Given the description of an element on the screen output the (x, y) to click on. 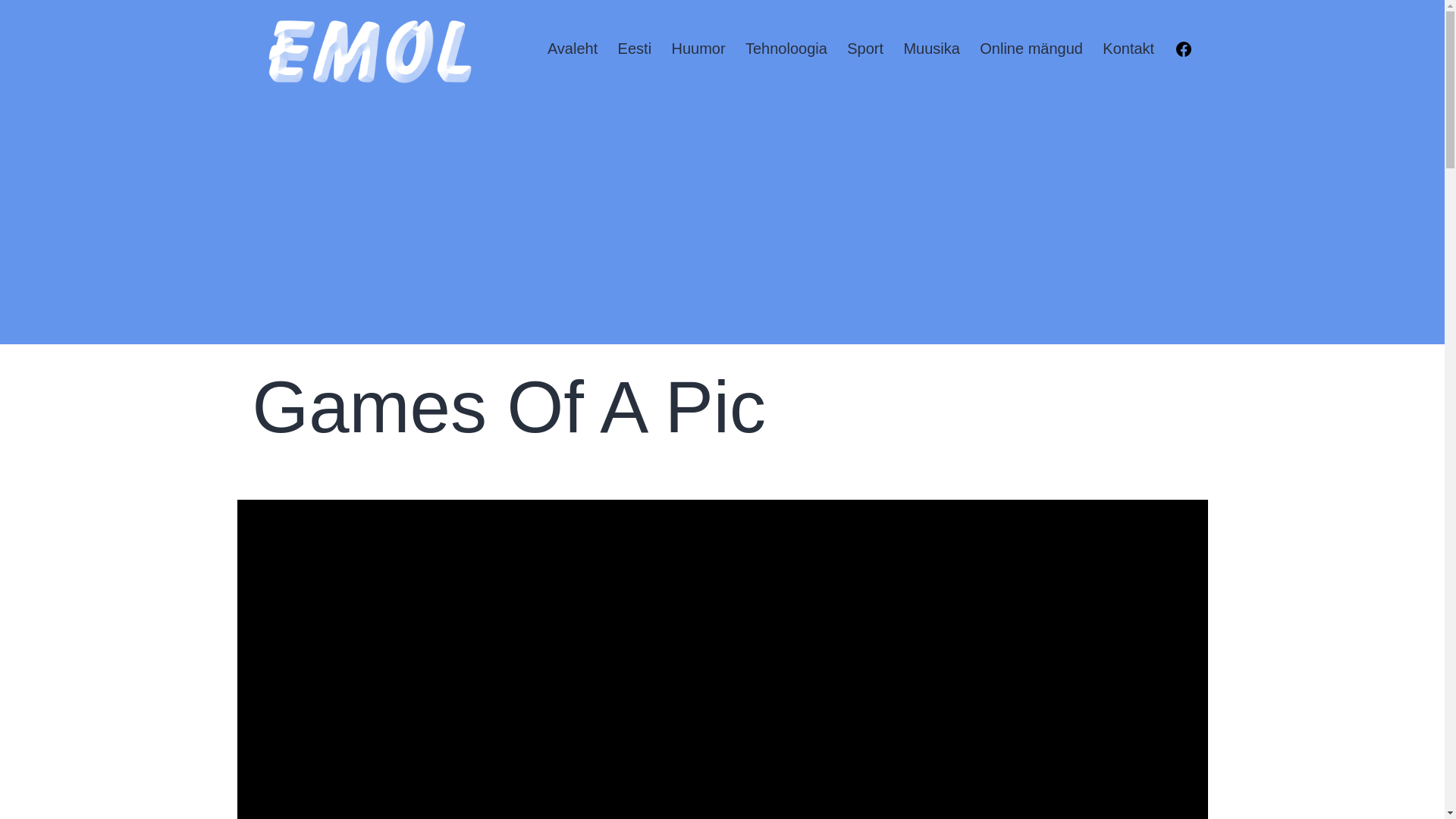
Kontakt (1128, 50)
Huumor (698, 50)
Avaleht (572, 50)
Eesti (634, 50)
Tehnoloogia (786, 50)
Sport (865, 50)
Muusika (931, 50)
